Given the description of an element on the screen output the (x, y) to click on. 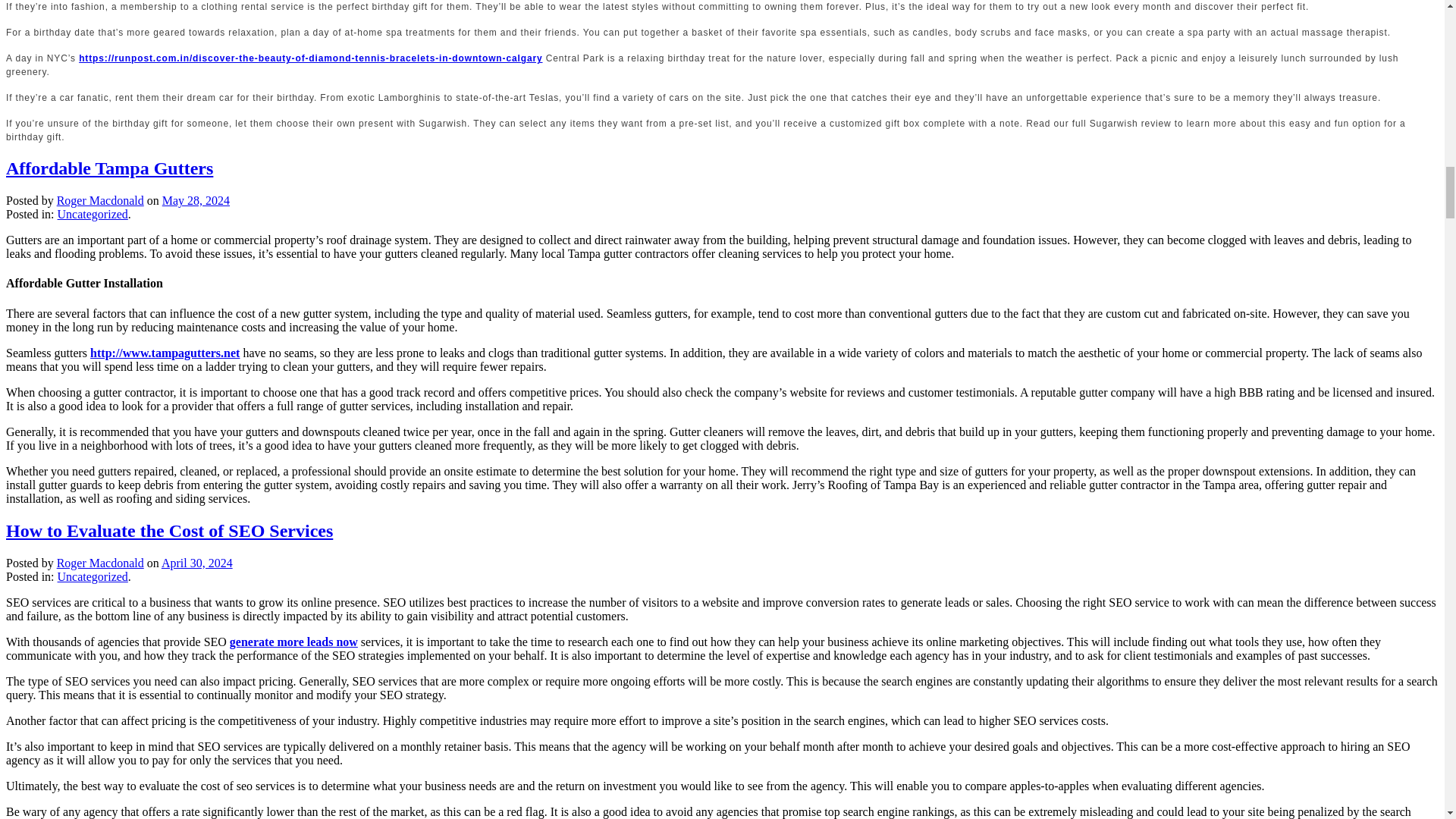
Uncategorized (93, 576)
How to Evaluate the Cost of SEO Services (169, 530)
Roger Macdonald (100, 562)
View all posts by Roger Macdonald (100, 562)
Affordable Tampa Gutters (108, 168)
April 30, 2024 (196, 562)
View all posts by Roger Macdonald (100, 200)
Roger Macdonald (100, 200)
May 28, 2024 (195, 200)
Uncategorized (93, 214)
generate more leads now (294, 641)
